Given the description of an element on the screen output the (x, y) to click on. 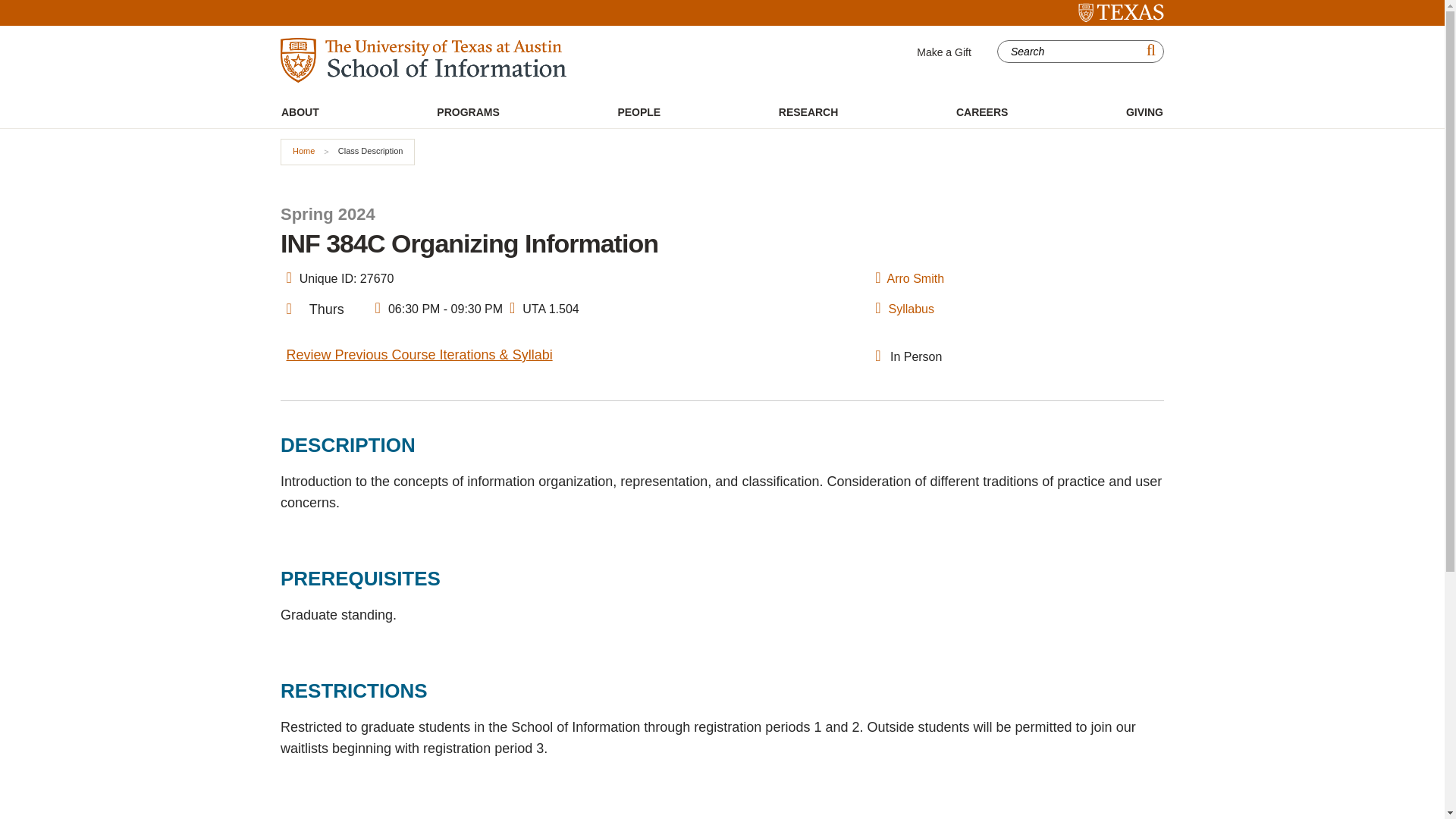
PROGRAMS (467, 112)
RESEARCH (808, 112)
PEOPLE (638, 112)
Search this site (1071, 51)
UT iSchool (423, 60)
University of Texas at Austin Home (1120, 12)
ABOUT (300, 112)
Make a Gift (944, 51)
